Given the description of an element on the screen output the (x, y) to click on. 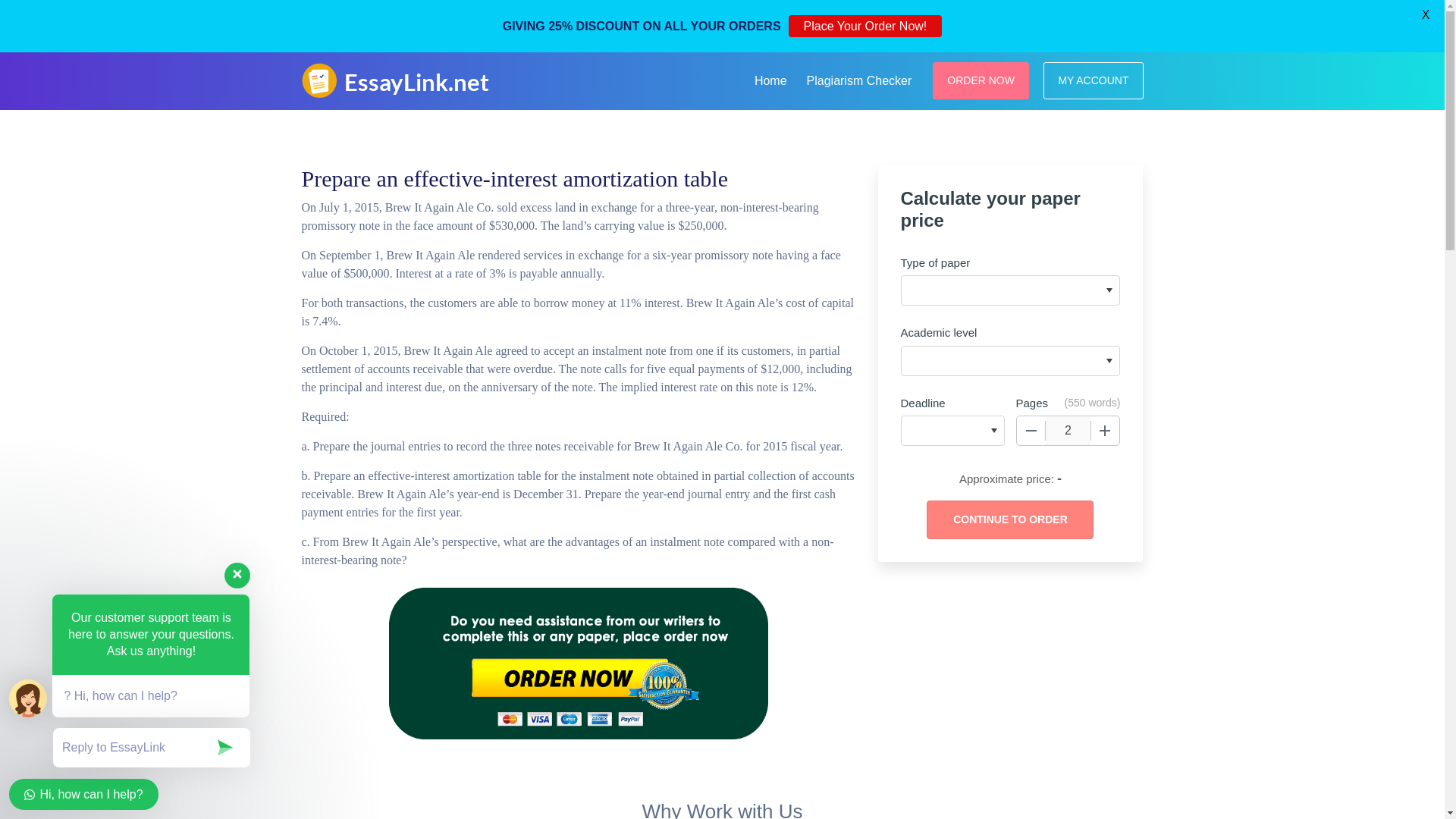
Decrease (1030, 430)
MY ACCOUNT (1092, 80)
Continue to order (1009, 519)
2 (1067, 430)
Plagiarism Checker (859, 78)
Continue to order (1009, 519)
ORDER NOW (981, 80)
Increase (1104, 430)
Plagiarism Checker (859, 78)
Place Your Order Now! (865, 25)
